Given the description of an element on the screen output the (x, y) to click on. 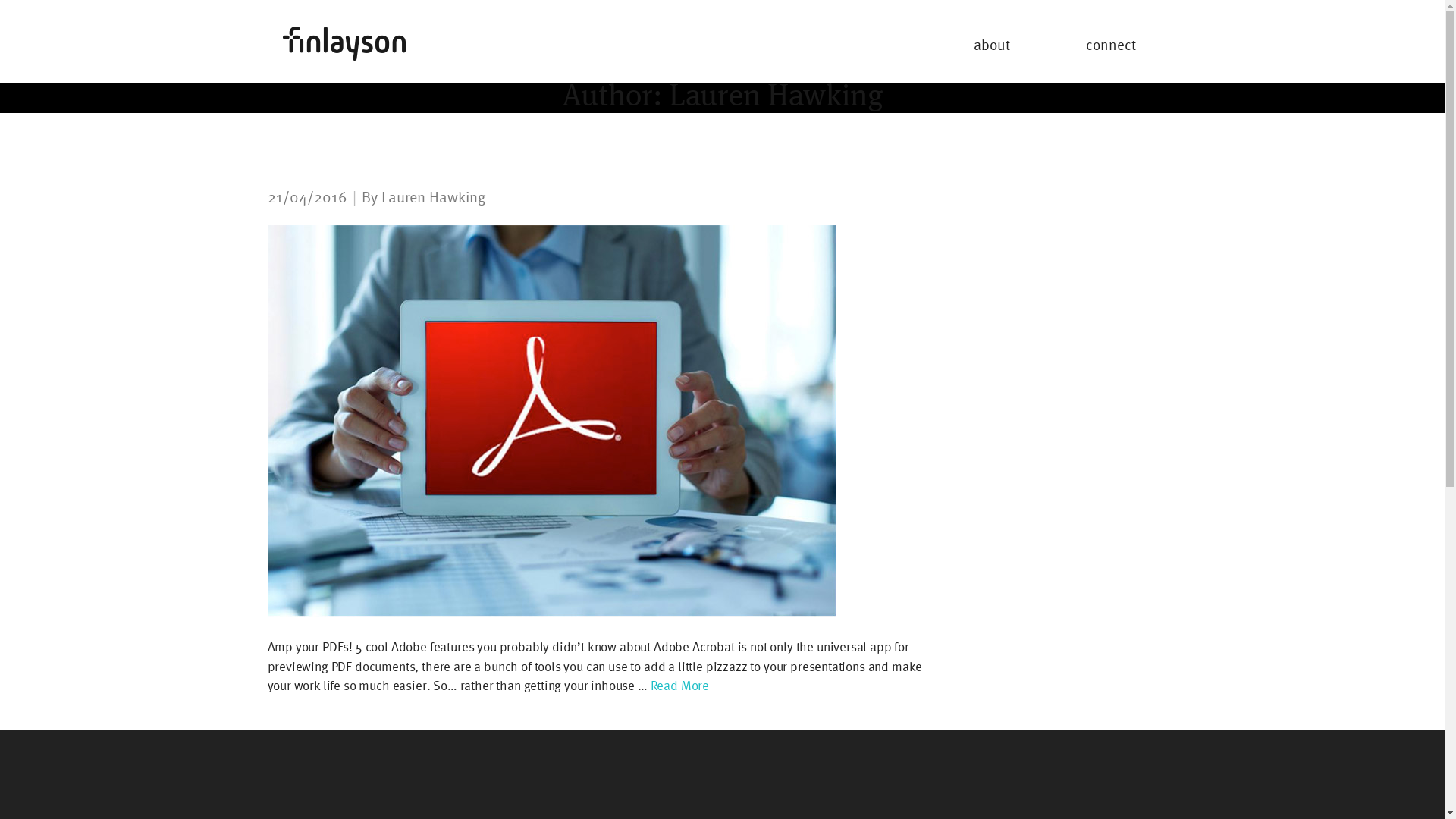
Amp your PDFs! Element type: hover (550, 420)
about Element type: text (991, 44)
connect Element type: text (1110, 44)
Lauren Hawking Element type: text (432, 196)
Read More Element type: text (679, 684)
Amp your PDFs! Element type: text (347, 164)
